Given the description of an element on the screen output the (x, y) to click on. 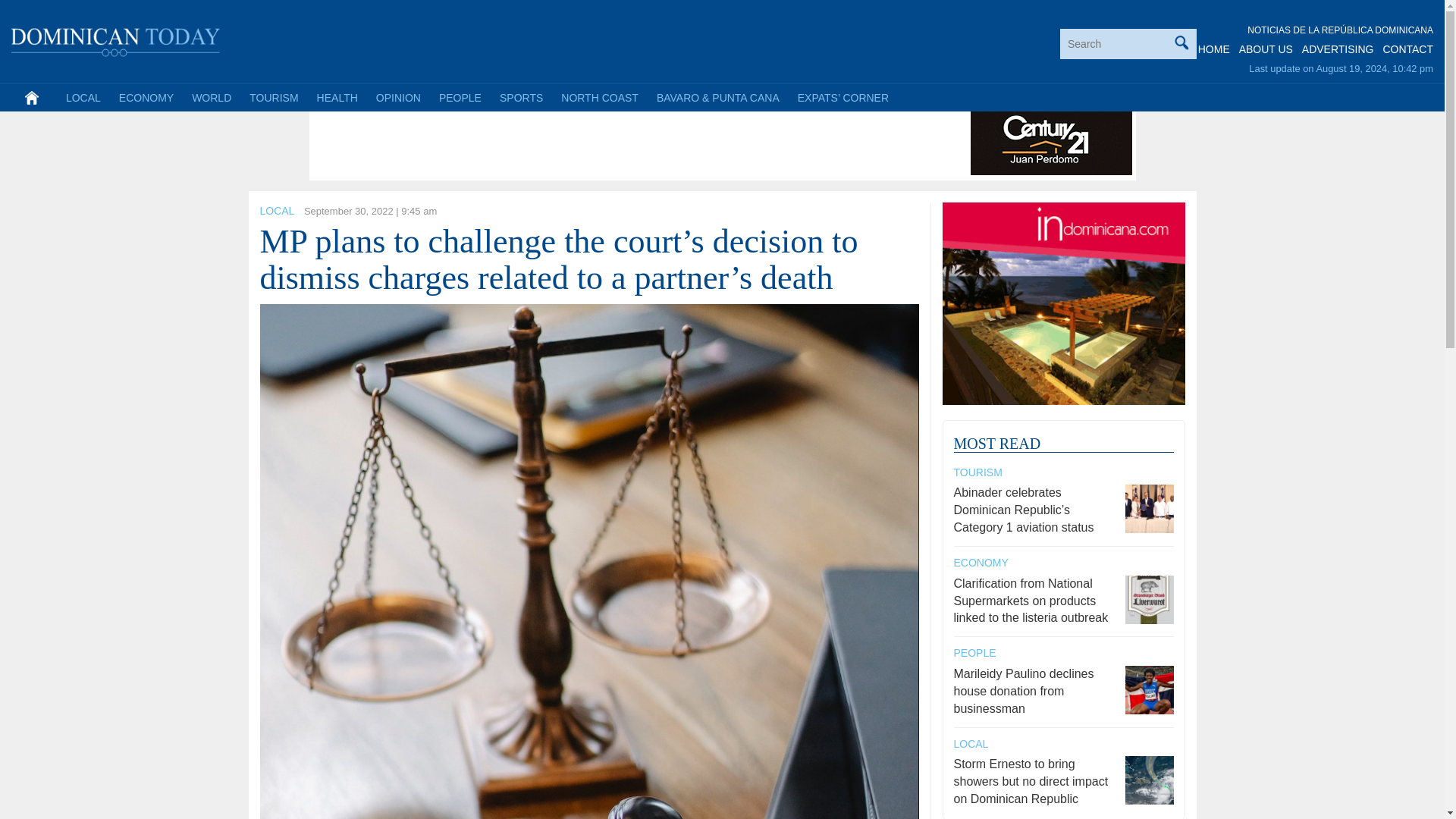
ABOUT US (1265, 49)
ADVERTISING (1337, 49)
ECONOMY (146, 97)
PEOPLE (459, 97)
LOCAL (83, 97)
LOCAL (276, 210)
NORTH COAST (599, 97)
Advertisement (589, 141)
CONTACT (1406, 49)
WORLD (211, 97)
